Given the description of an element on the screen output the (x, y) to click on. 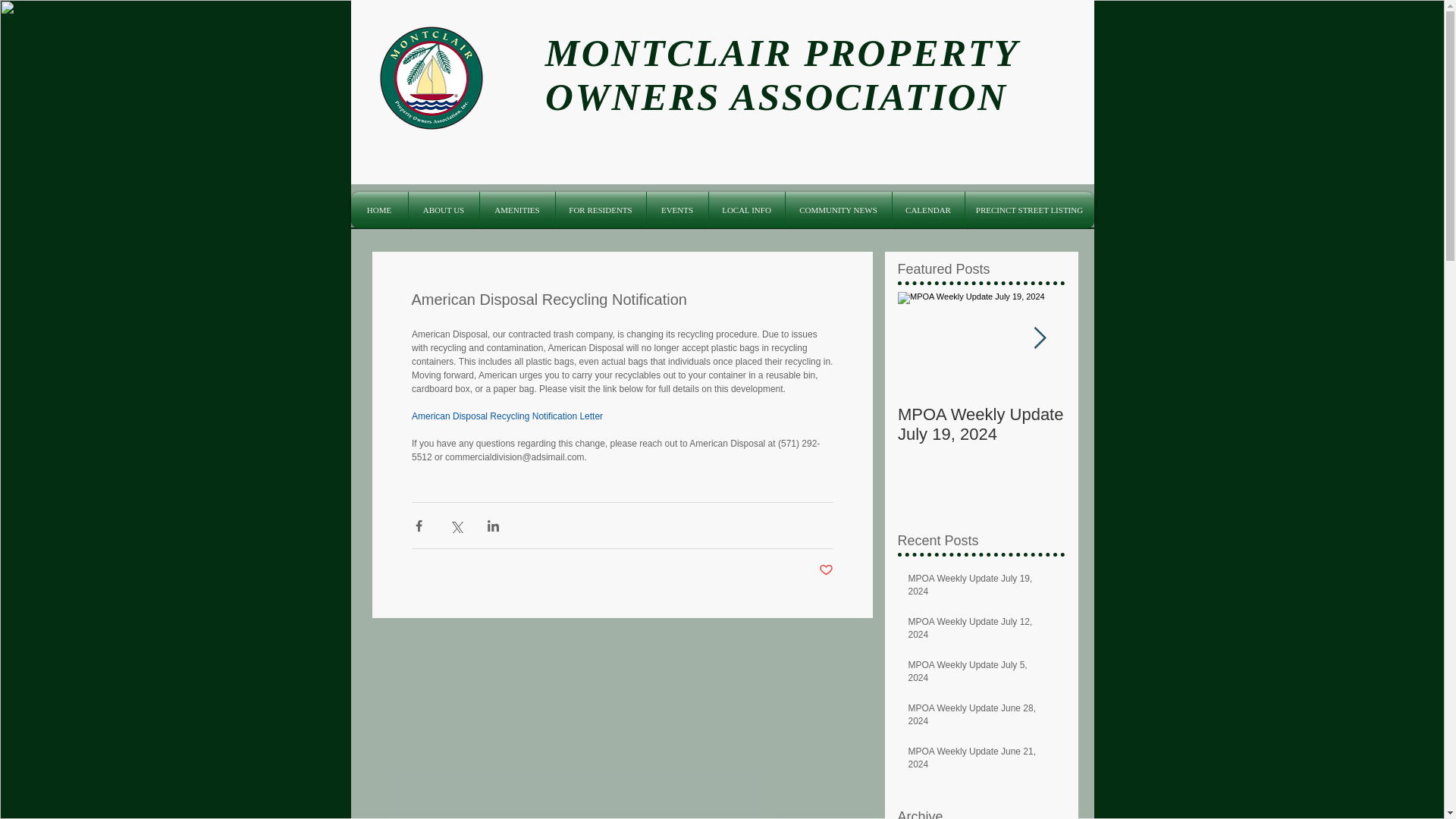
FOR RESIDENTS (599, 209)
AMENITIES (516, 209)
EVENTS (676, 209)
MPOA LOGO COLOR.png (430, 78)
HOME (378, 209)
ABOUT US (443, 209)
